Given the description of an element on the screen output the (x, y) to click on. 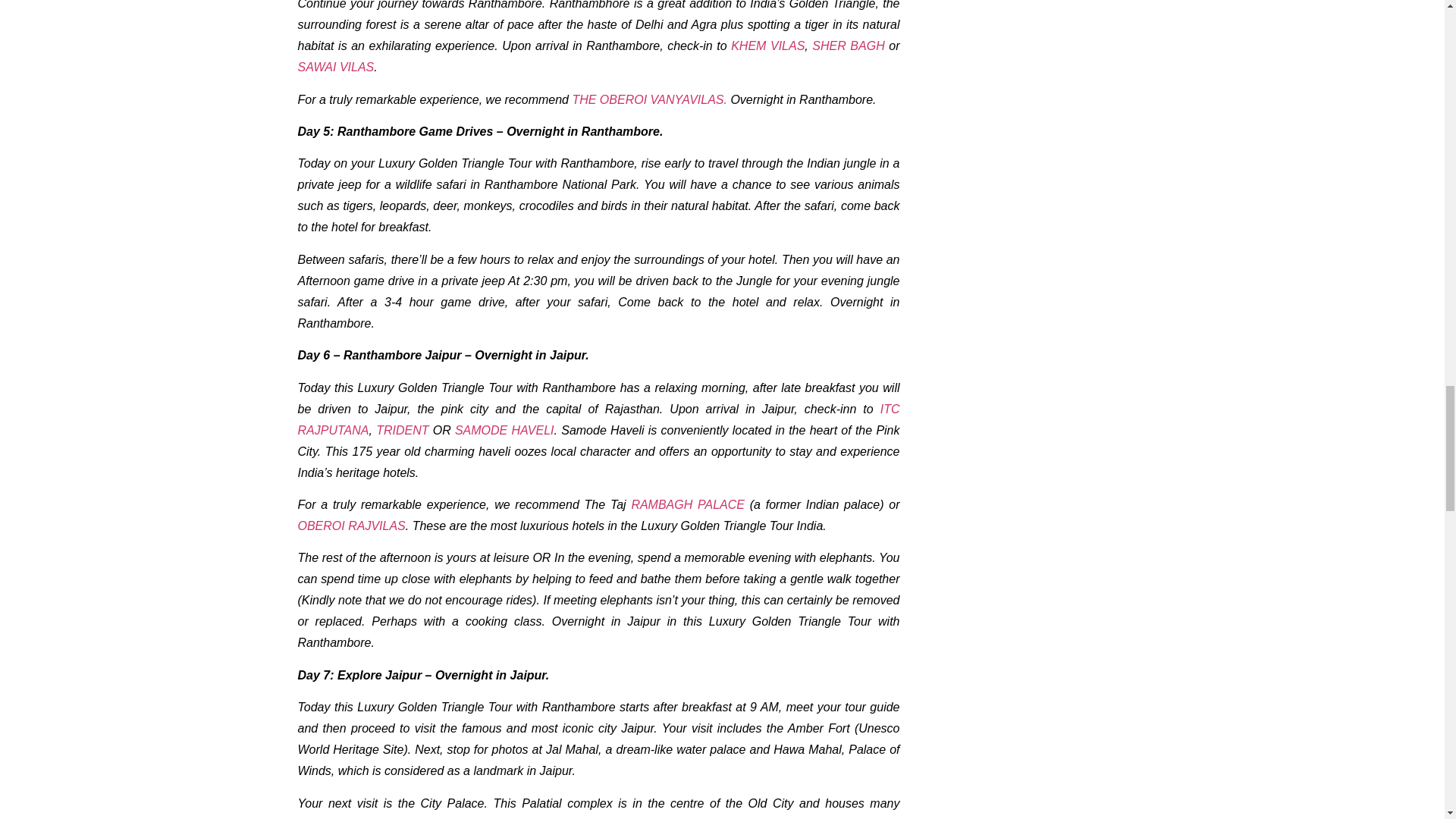
KHEM VILAS (767, 45)
SHER BAGH (847, 45)
ITC RAJPUTANA (598, 419)
SAWAI VILAS (335, 66)
THE OBEROI VANYAVILAS. (651, 99)
